Given the description of an element on the screen output the (x, y) to click on. 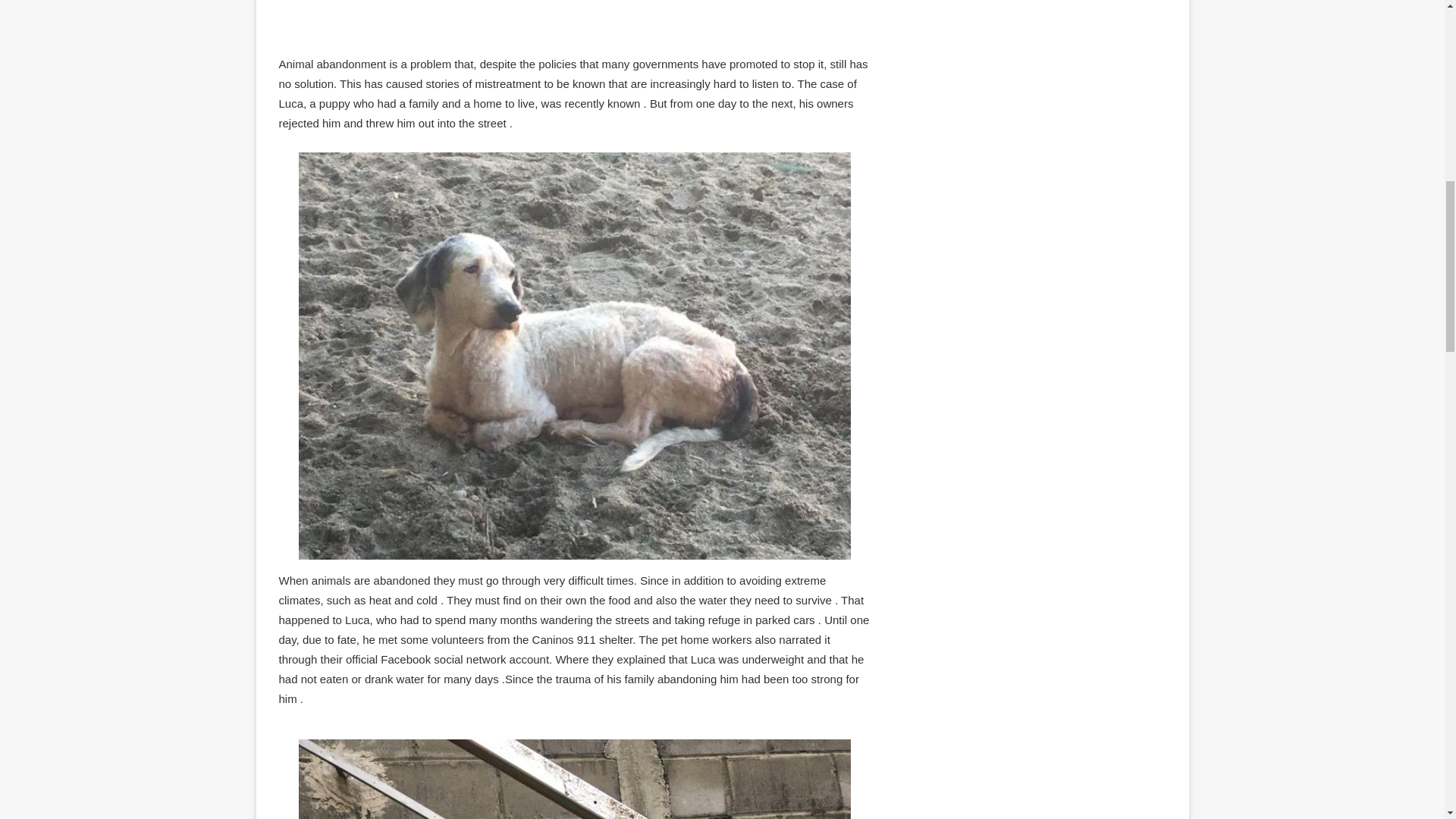
Advertisement (574, 15)
Advertisement (1035, 31)
